Given the description of an element on the screen output the (x, y) to click on. 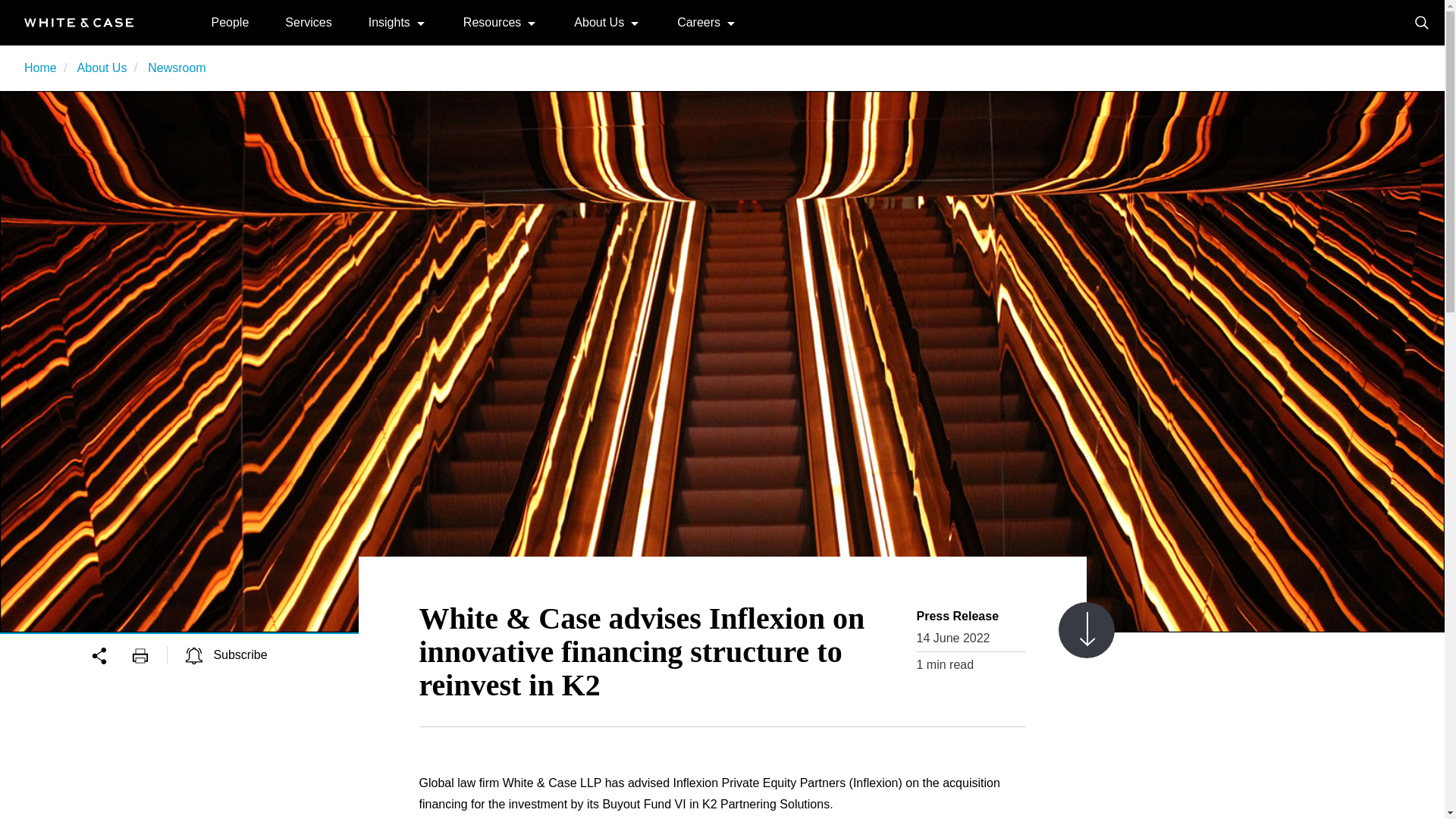
Print (149, 654)
Insights (389, 21)
Subscribe (226, 654)
Careers (698, 21)
Share (111, 654)
Services (308, 21)
About Us (102, 67)
About Us (598, 21)
Resources (492, 21)
Home (78, 22)
Home (40, 67)
Newsroom (176, 67)
Subscribe (226, 654)
People (229, 21)
